Given the description of an element on the screen output the (x, y) to click on. 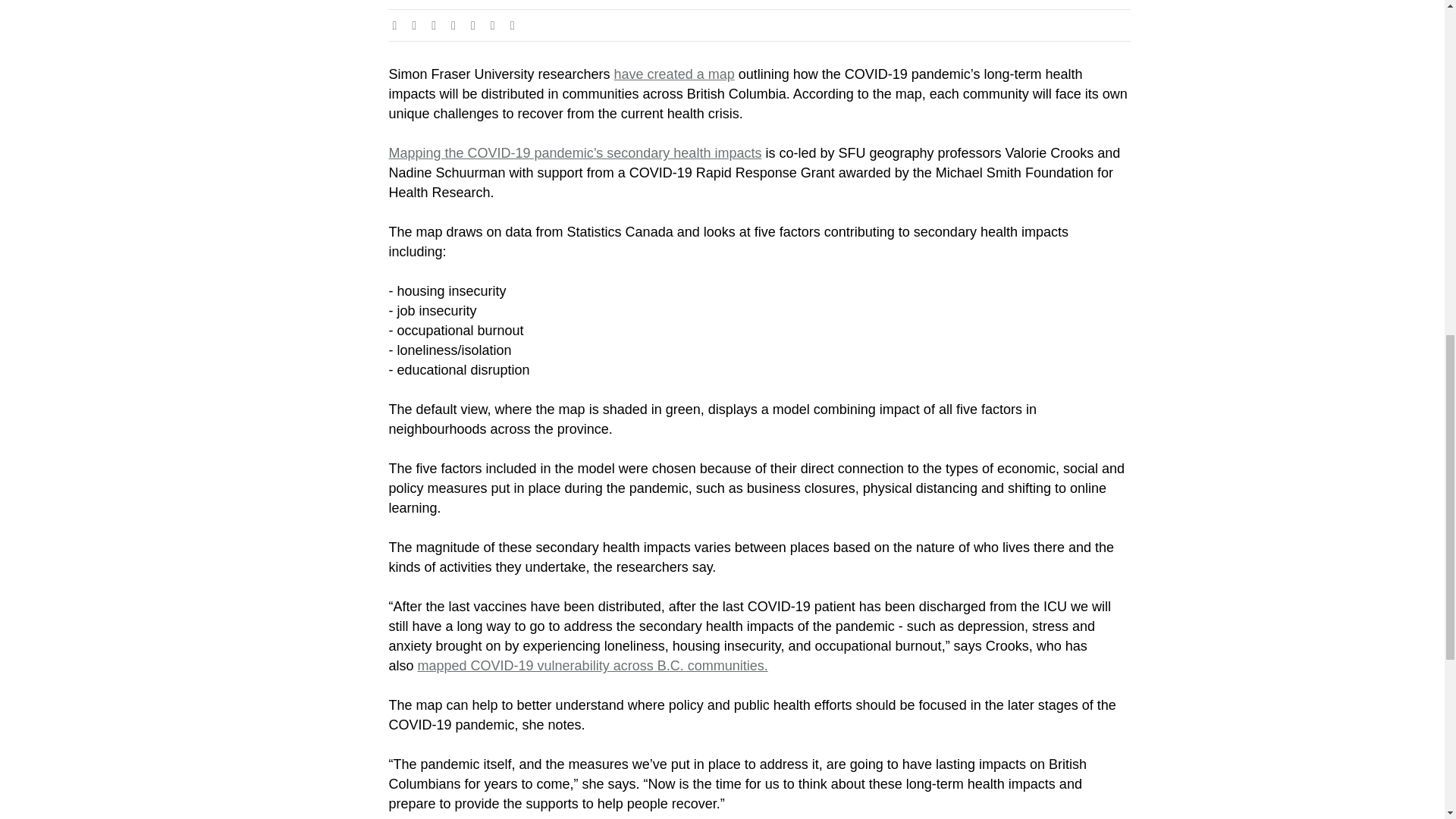
mapped COVID-19 vulnerability across B.C. communities. (592, 665)
have created a map (674, 73)
